Given the description of an element on the screen output the (x, y) to click on. 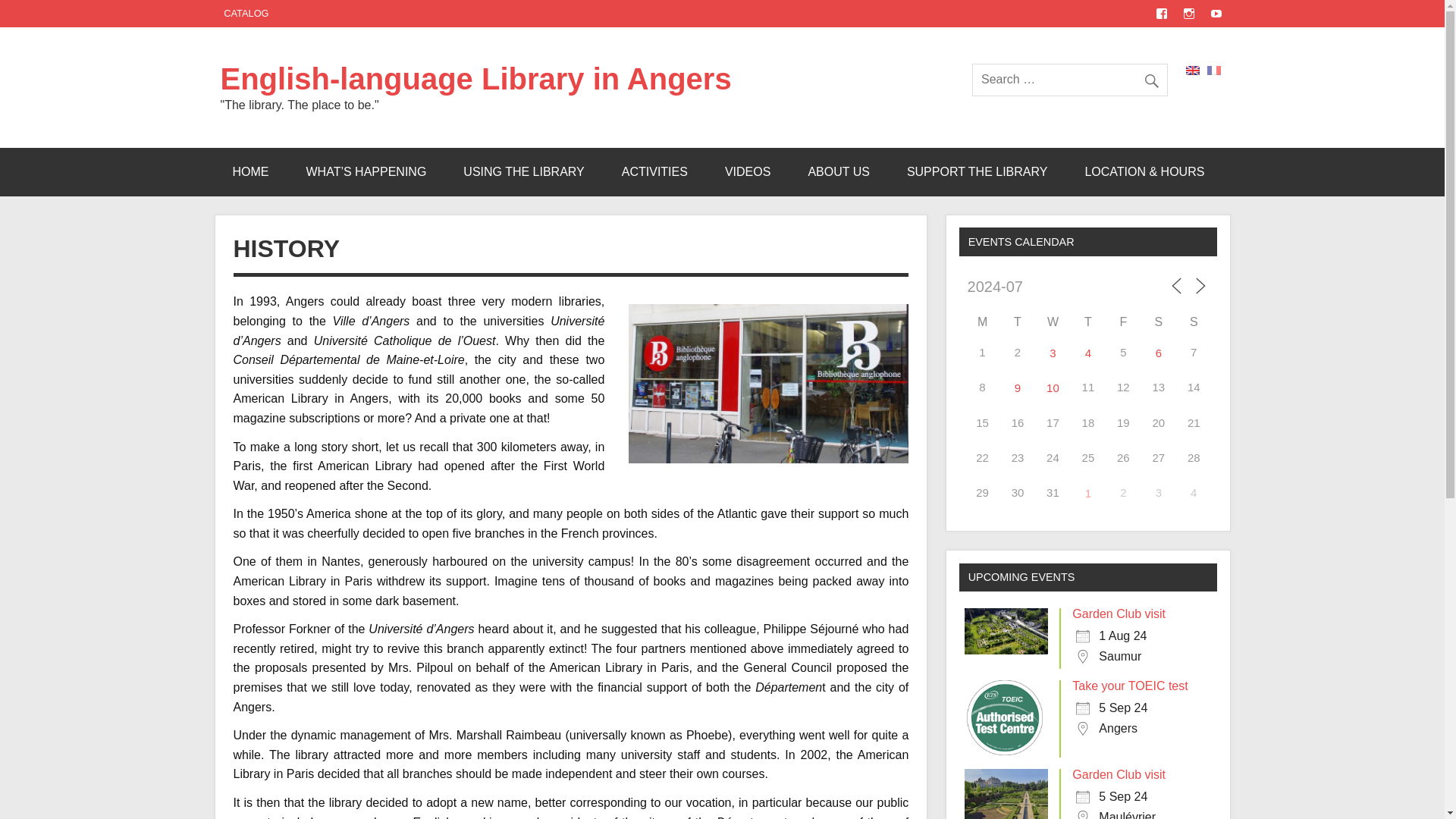
USING THE LIBRARY (523, 172)
ACTIVITIES (655, 172)
Instagram (1188, 13)
2024-07 (1018, 286)
HOME (250, 172)
Author Talk:  Geetanjali Shree (1052, 388)
CATALOG (246, 13)
Facebook (1161, 13)
Garden Club visit (1087, 354)
English-language Library in Angers (474, 78)
Garden Club visit (1087, 494)
Luncheon Club (1017, 388)
VIDEOS (747, 172)
YouTube (1215, 13)
ABOUT US (838, 172)
